Given the description of an element on the screen output the (x, y) to click on. 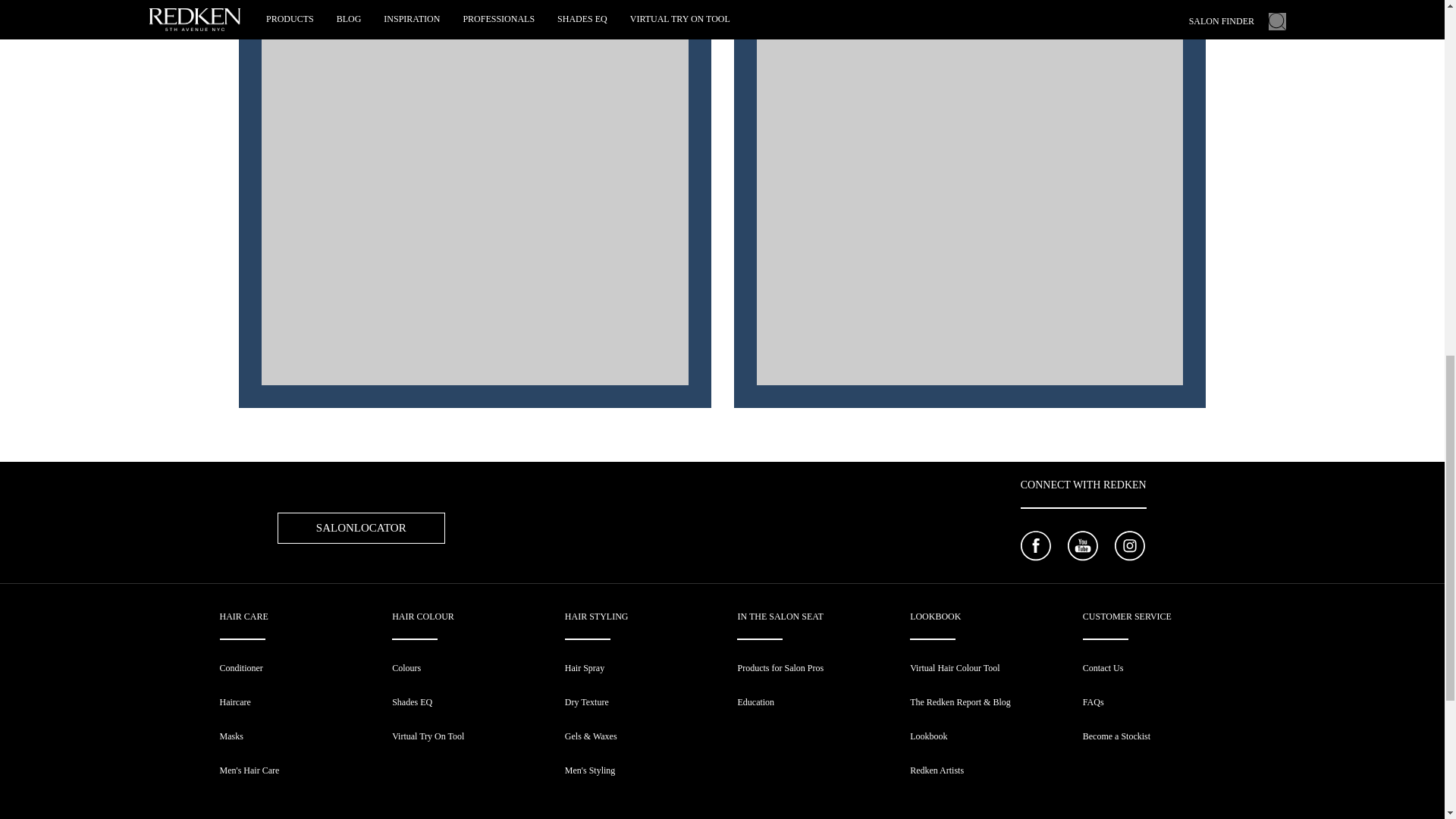
instagram (1129, 547)
youtube (1082, 547)
facebook (1035, 547)
